Given the description of an element on the screen output the (x, y) to click on. 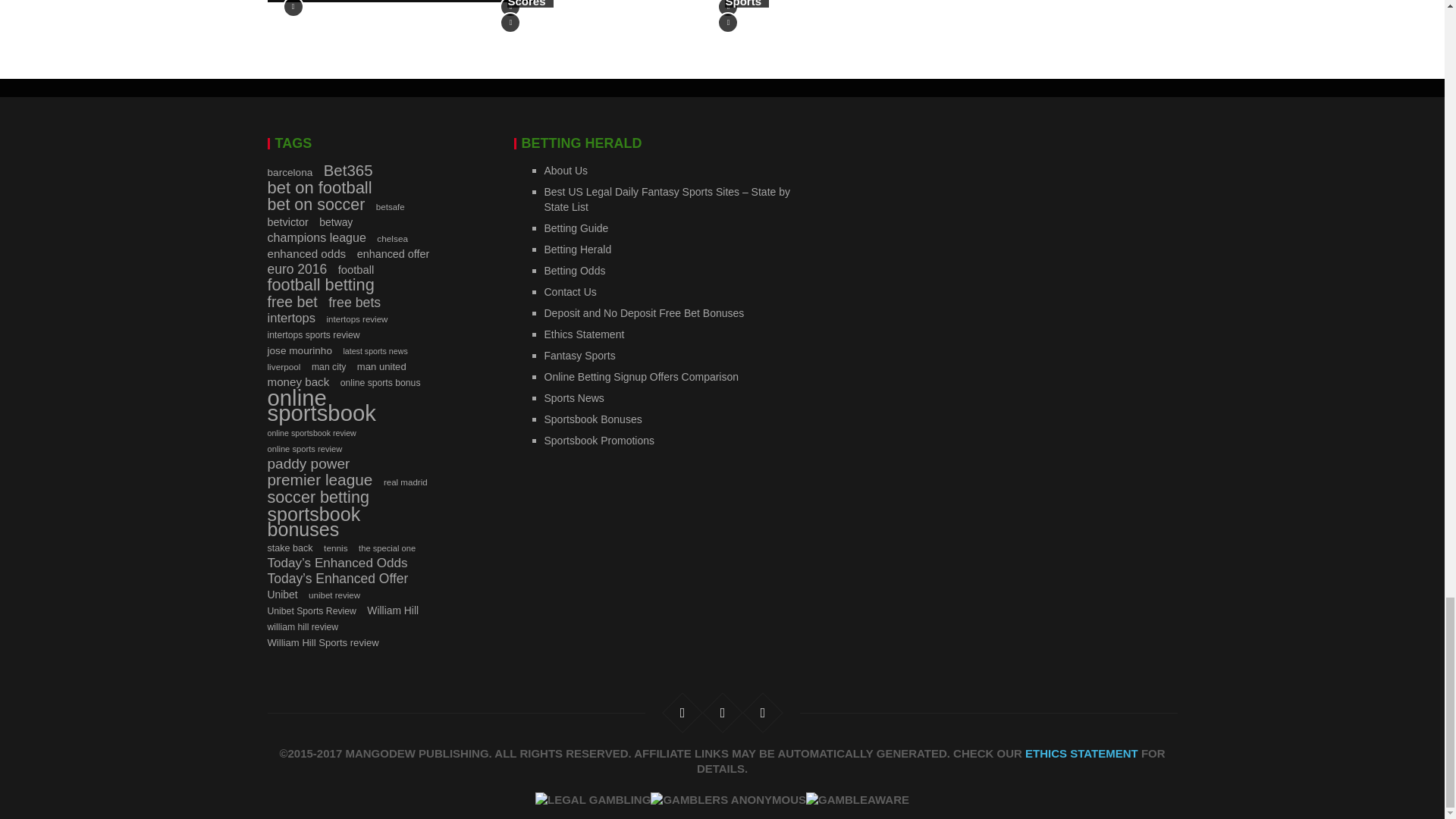
gambleaware (857, 799)
legal gambling age (592, 799)
Ethics Statement (1081, 753)
gamblers anonymous (728, 799)
